Given the description of an element on the screen output the (x, y) to click on. 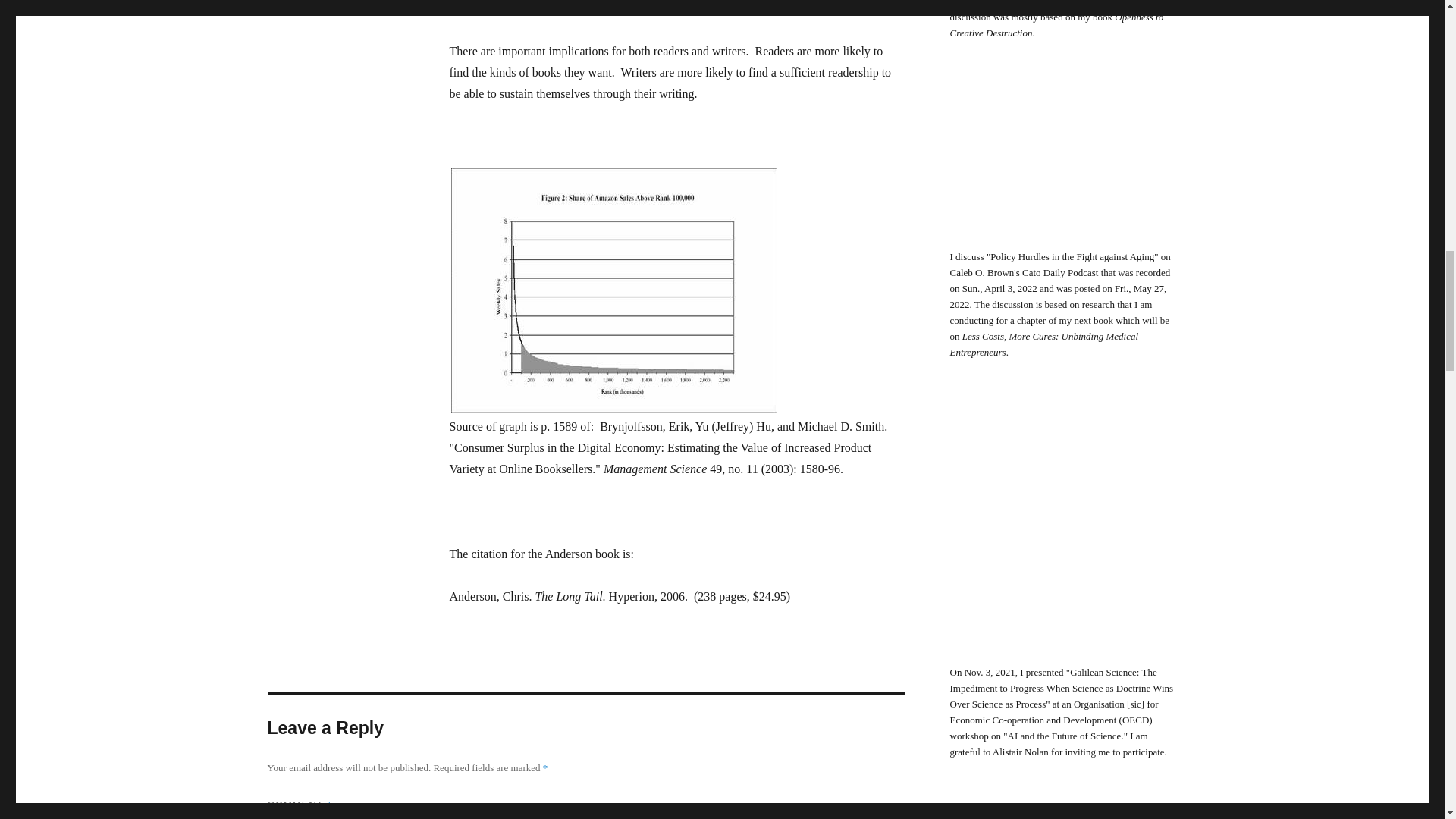
YouTube video player (1062, 527)
Embed Player (1062, 160)
